Given the description of an element on the screen output the (x, y) to click on. 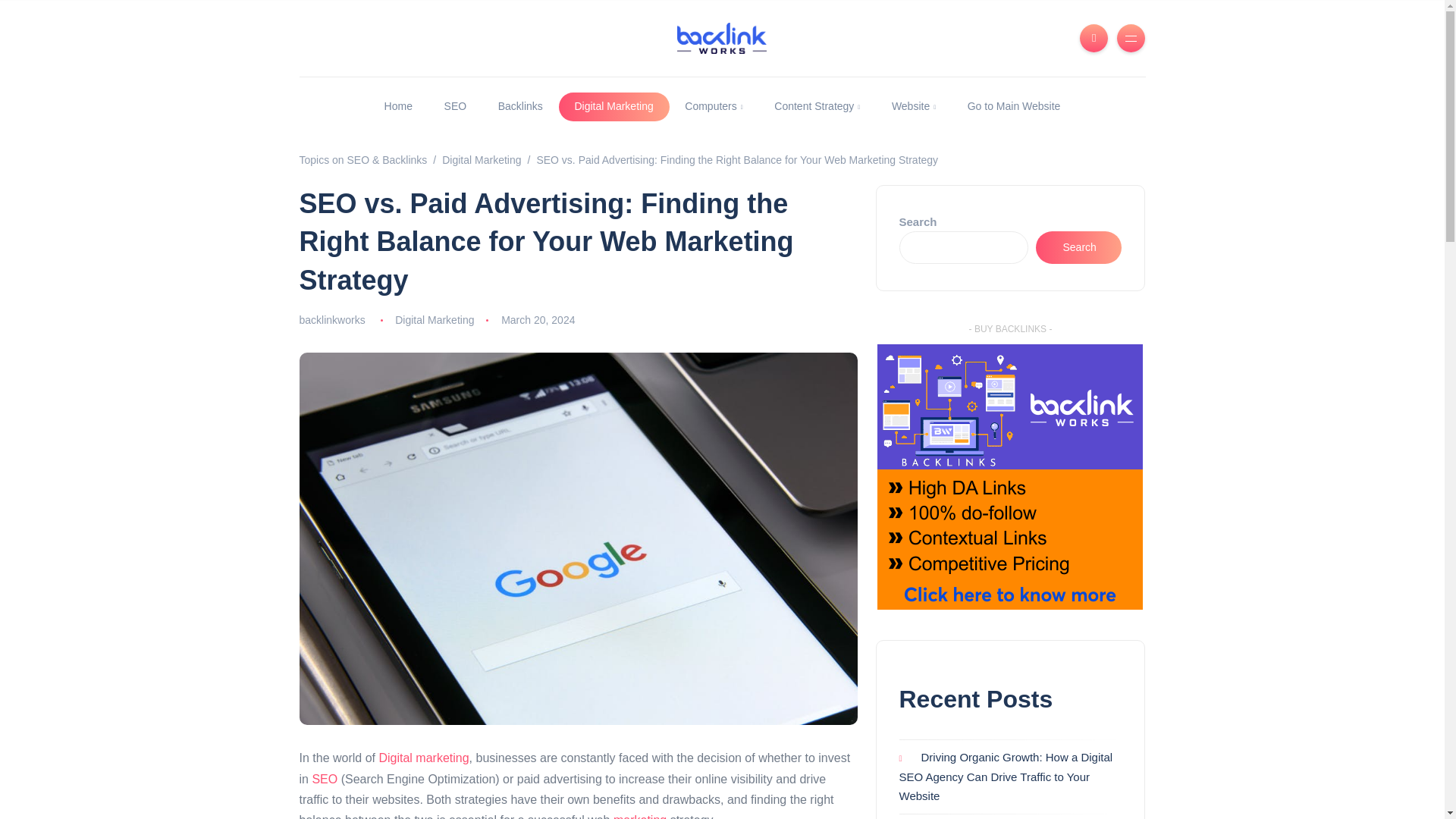
Go to the Digital Marketing Category archives. (481, 159)
Posts by backlinkworks (331, 319)
